Given the description of an element on the screen output the (x, y) to click on. 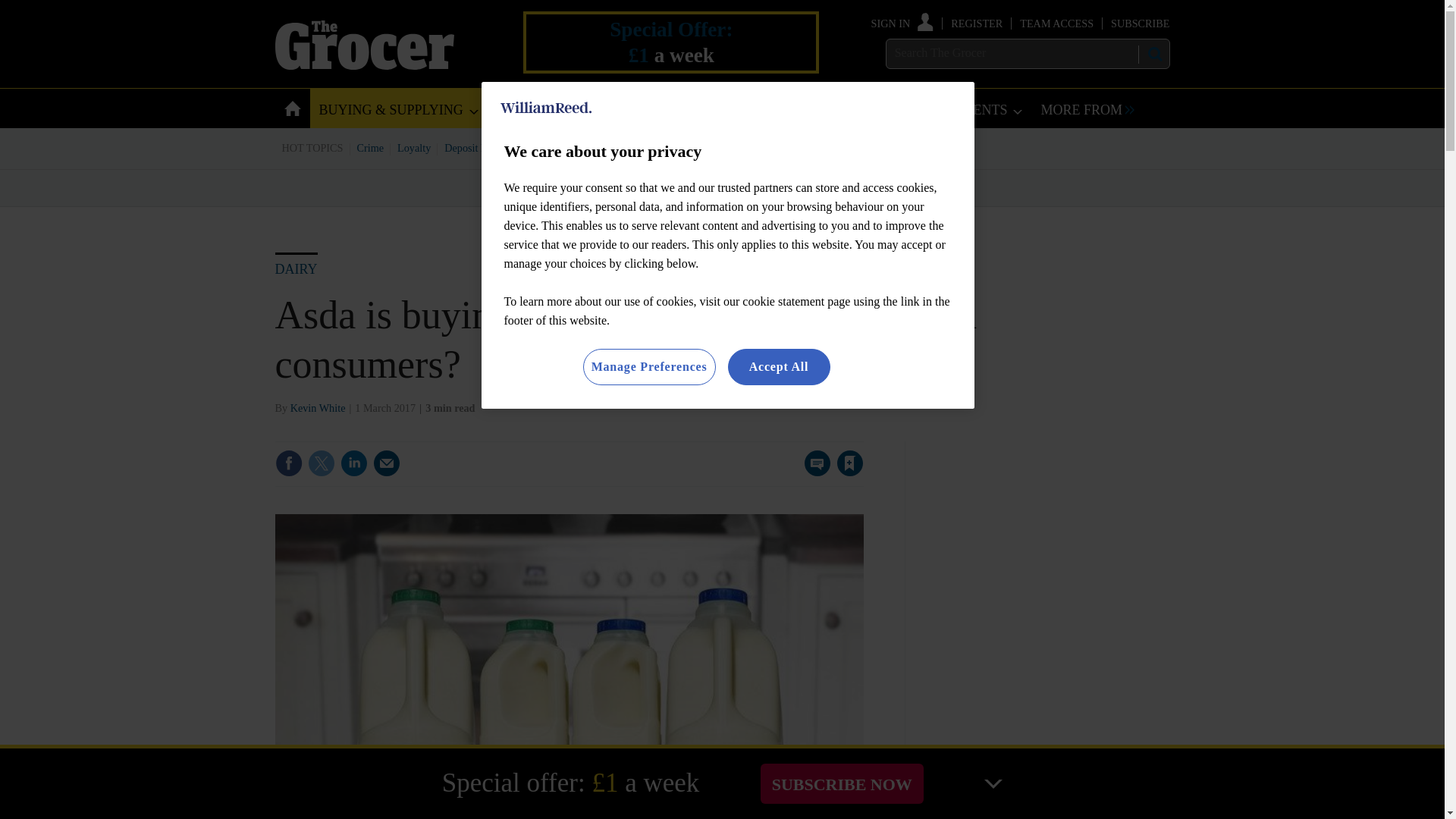
Vaping (774, 147)
SIGN IN (902, 23)
Share this on Twitter (320, 462)
Share this on Linked in (352, 462)
SEARCH (1153, 53)
KVI price tracker (602, 147)
No comments (812, 472)
SUBSCRIBE NOW (841, 783)
Share this on Facebook (288, 462)
William Reed (545, 107)
